Given the description of an element on the screen output the (x, y) to click on. 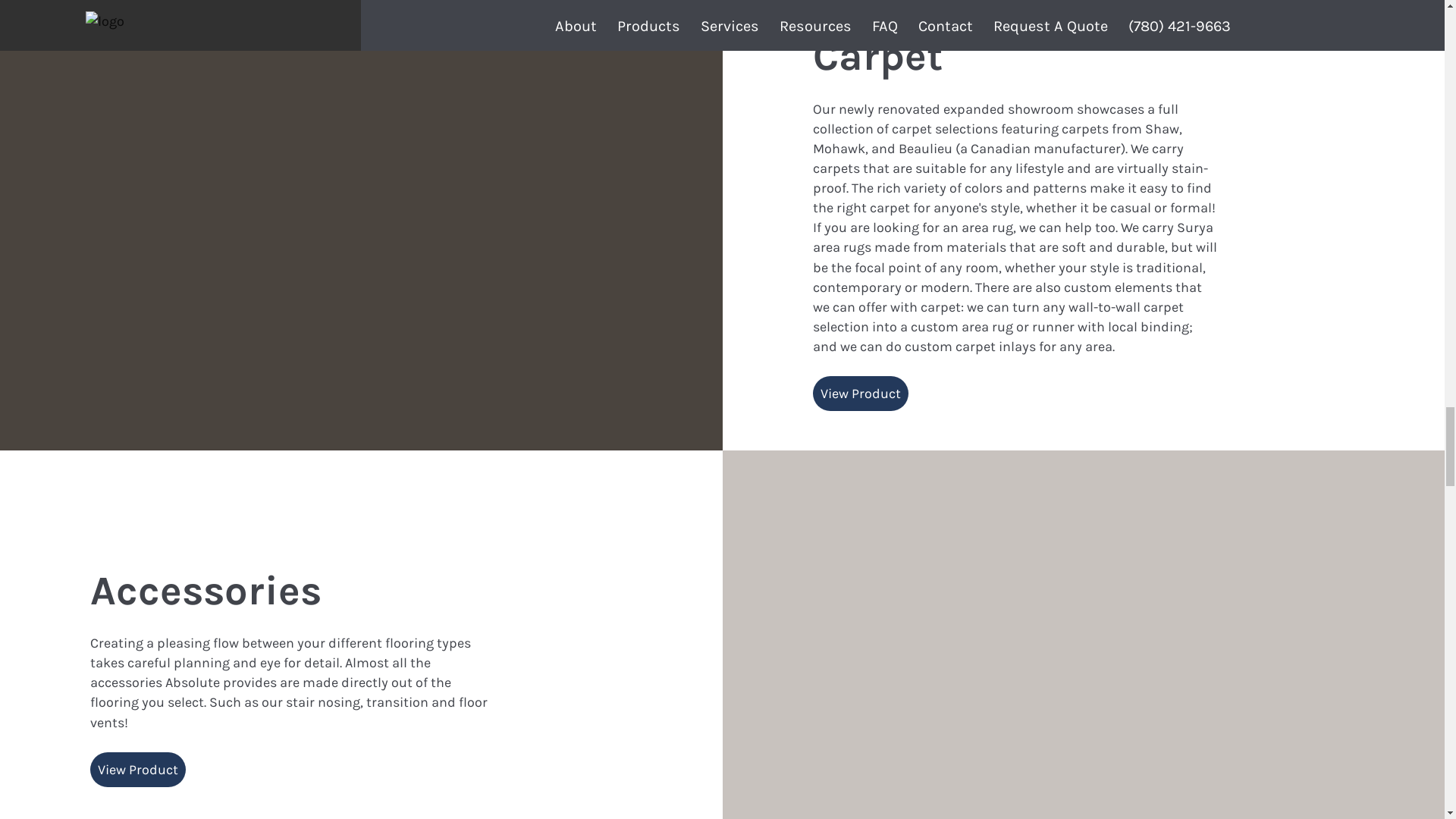
View Product (860, 393)
Carpet (877, 55)
